Given the description of an element on the screen output the (x, y) to click on. 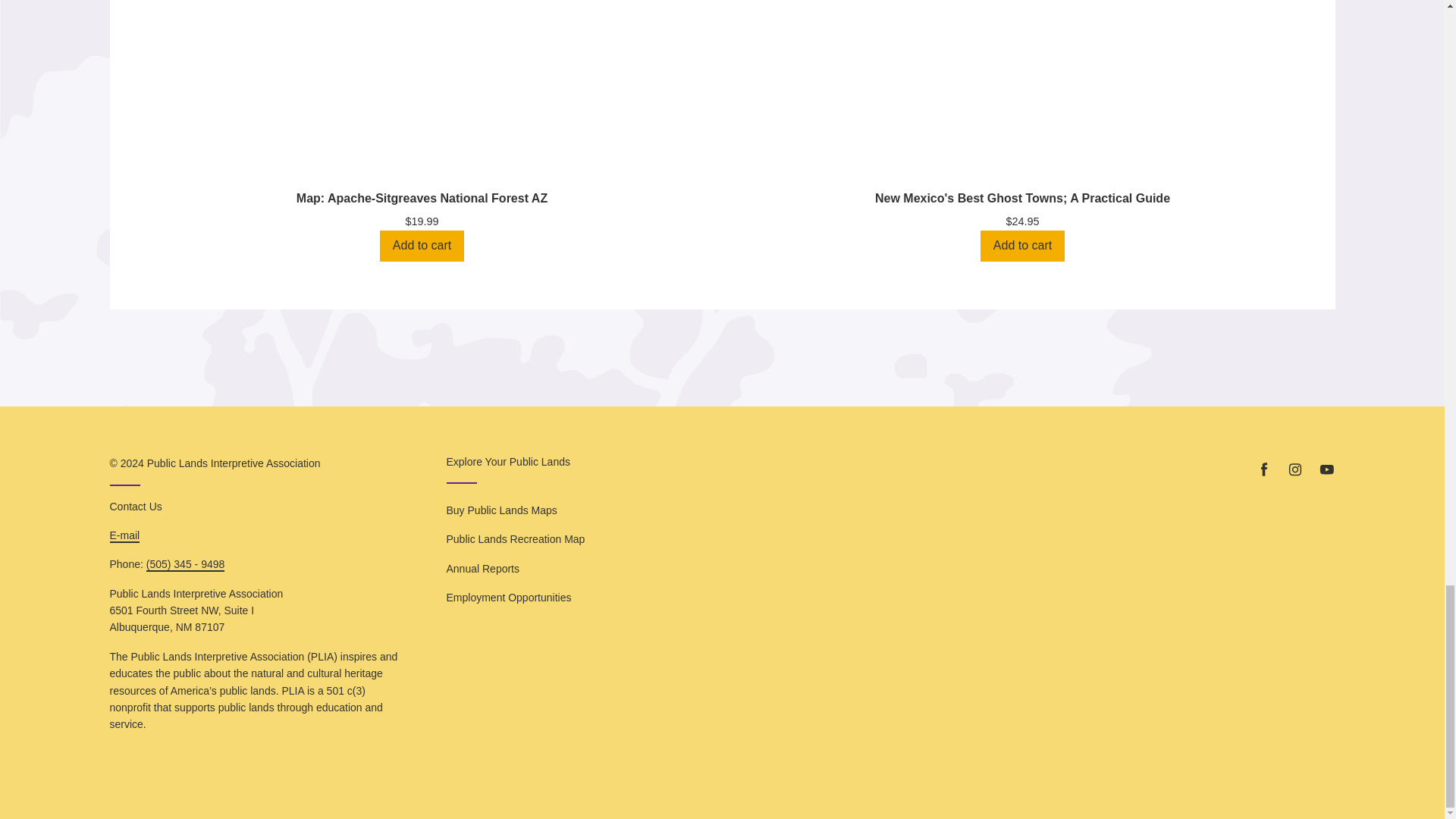
Public Lands Interpretive Association on Instagram (1295, 469)
Add to cart (1021, 245)
Public Lands Interpretive Association on Facebook (1263, 469)
E-Mail publiclands.org (124, 535)
Public Lands Interpretive Association on YouTube (1326, 469)
Add to cart (422, 245)
